Given the description of an element on the screen output the (x, y) to click on. 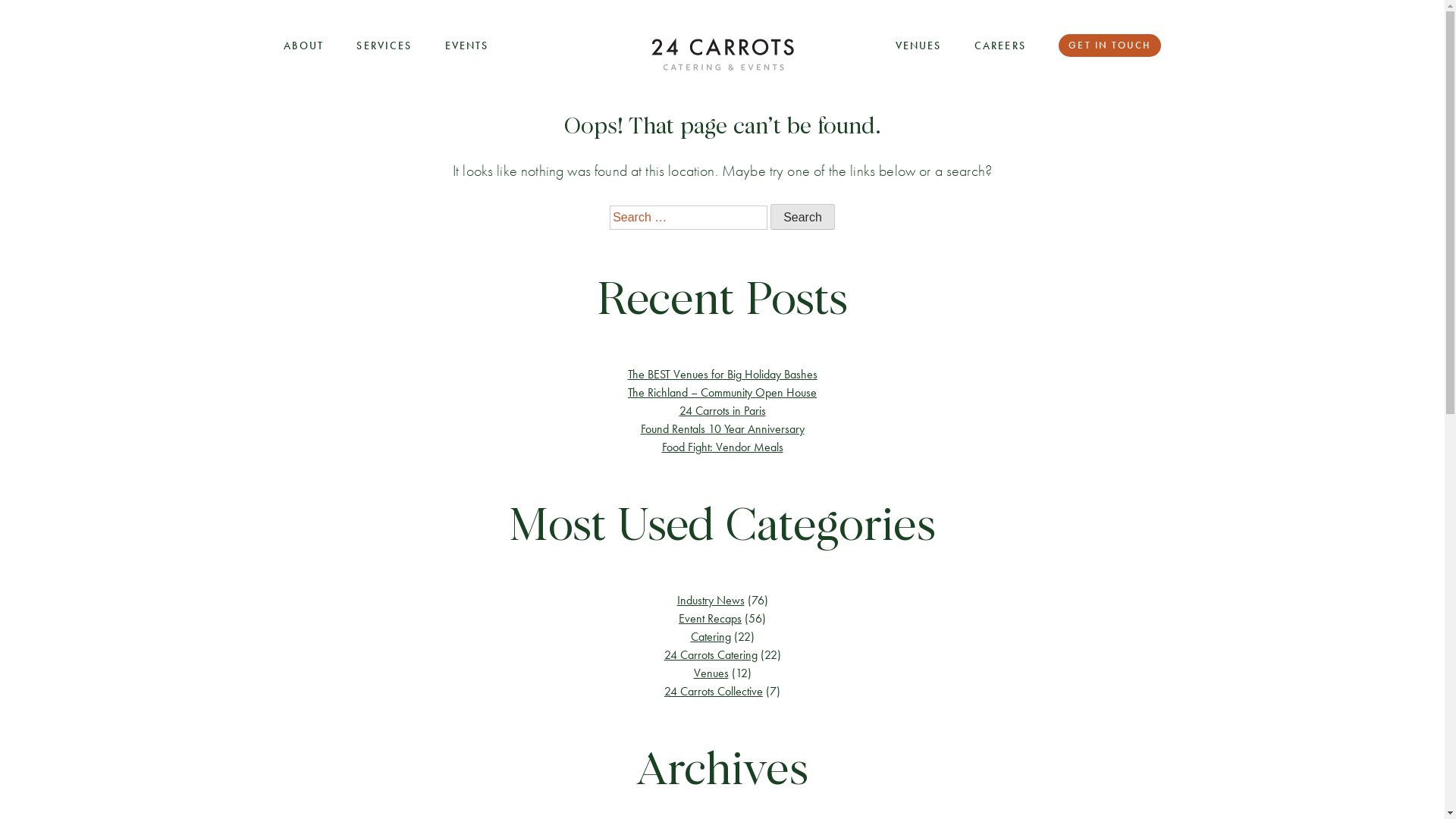
GET IN TOUCH Element type: text (1109, 45)
Catering Element type: text (710, 636)
Search Element type: text (802, 216)
CAREERS Element type: text (1000, 45)
24 Carrots Collective Element type: text (713, 691)
24 Carrots in Paris Element type: text (722, 410)
ABOUT Element type: text (303, 45)
Event Recaps Element type: text (709, 618)
Found Rentals 10 Year Anniversary Element type: text (721, 428)
HOME Element type: text (722, 53)
Industry News Element type: text (709, 600)
The BEST Venues for Big Holiday Bashes Element type: text (722, 374)
Food Fight: Vendor Meals Element type: text (721, 447)
VENUES Element type: text (918, 45)
SERVICES Element type: text (383, 45)
Venues Element type: text (710, 672)
EVENTS Element type: text (467, 45)
24 Carrots Catering Element type: text (710, 654)
